Given the description of an element on the screen output the (x, y) to click on. 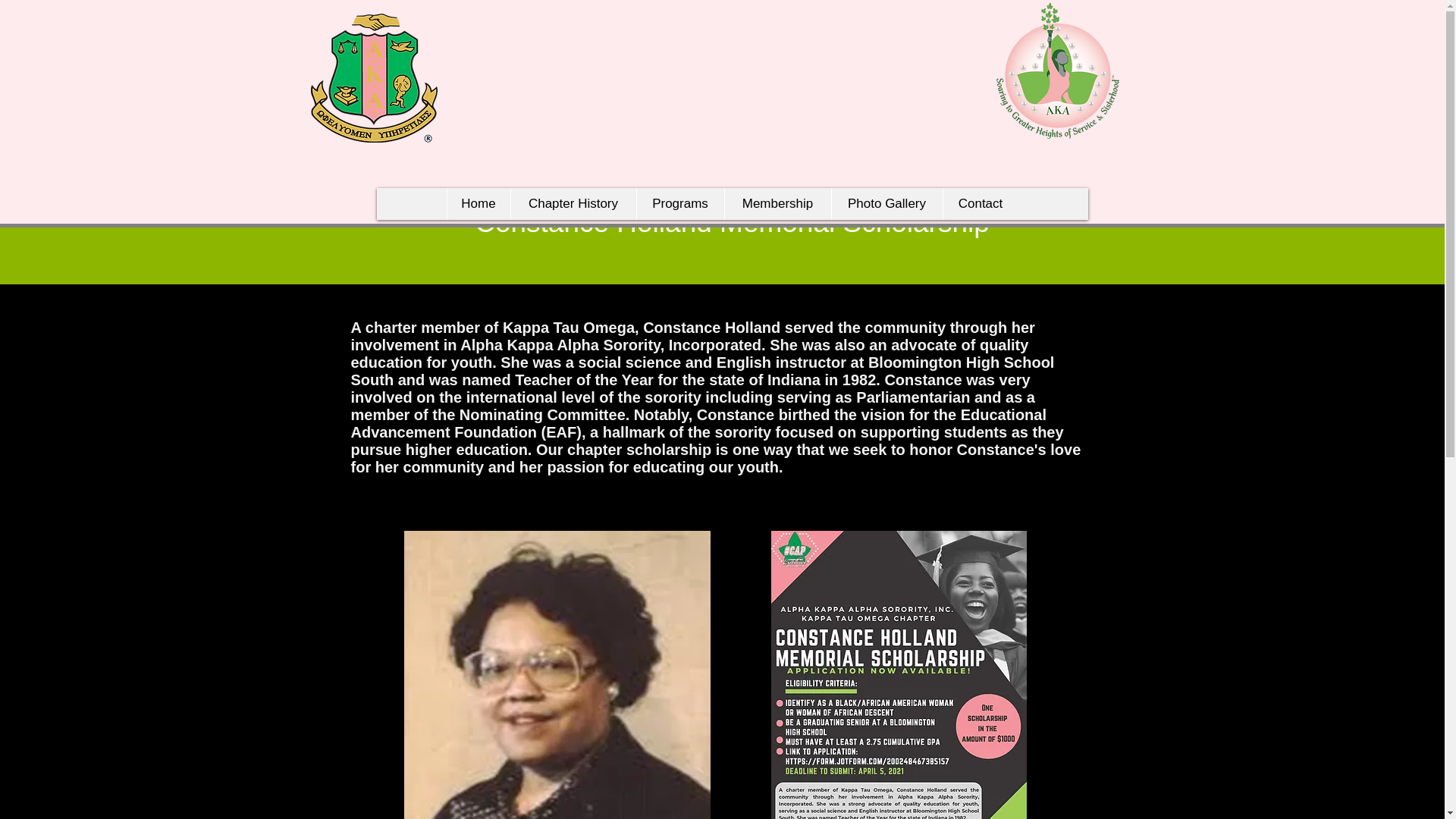
Photo Gallery (886, 204)
Contact (979, 204)
Membership (776, 204)
Chapter History (571, 204)
Home (477, 204)
Programs (678, 204)
